Given the description of an element on the screen output the (x, y) to click on. 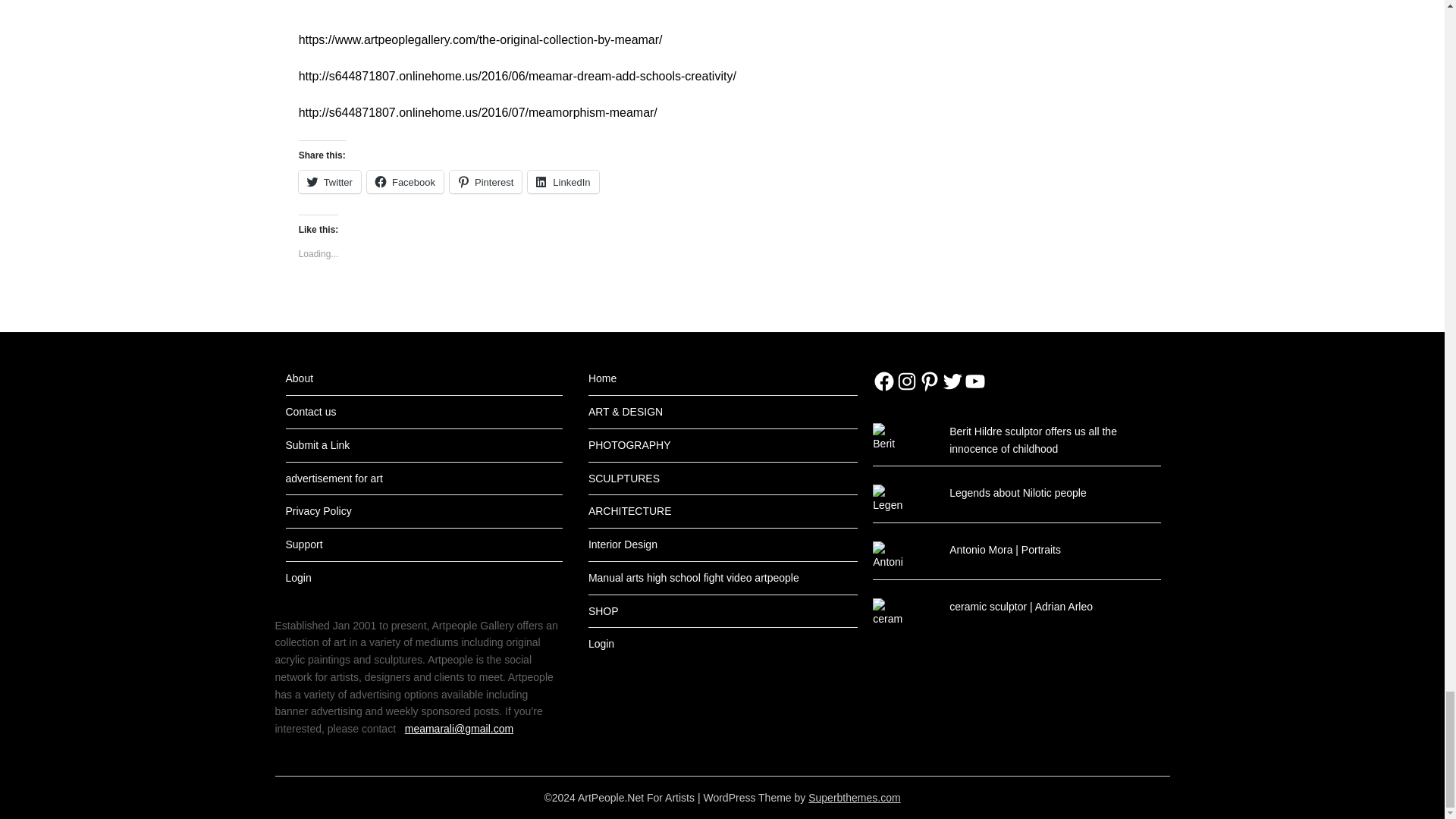
Twitter (329, 181)
Click to share on Twitter (329, 181)
Click to share on LinkedIn (562, 181)
Pinterest (485, 181)
LinkedIn (562, 181)
Legends about Nilotic people (1017, 492)
Click to share on Pinterest (485, 181)
Click to share on Facebook (405, 181)
Meamar.mp4 (541, 3)
